Given the description of an element on the screen output the (x, y) to click on. 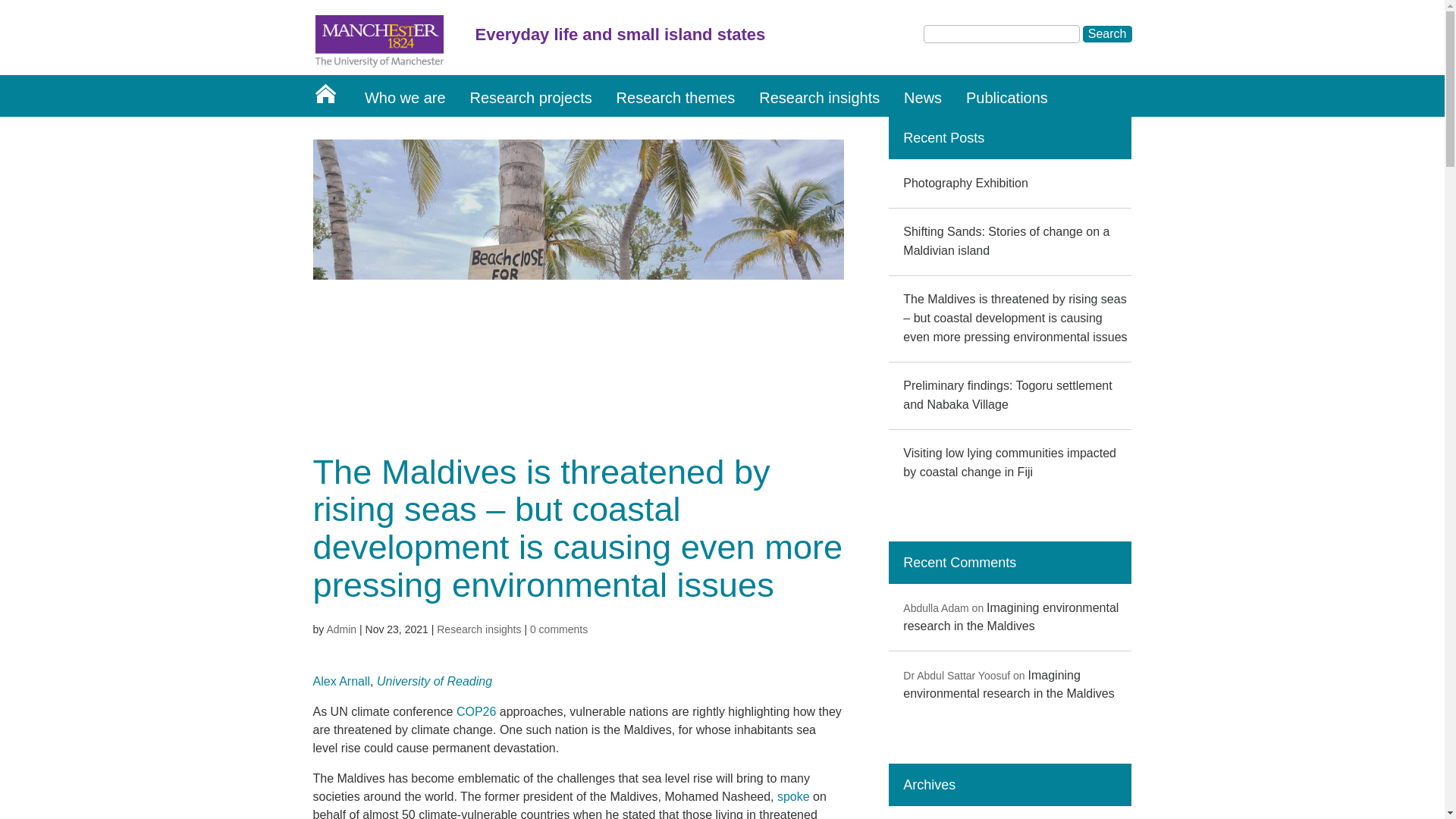
Who we are (405, 96)
Research insights (478, 629)
Research themes (675, 96)
Research projects (531, 96)
University of Reading (434, 680)
News (922, 96)
Admin (341, 629)
Everyday life and small island states (737, 38)
Search (1107, 33)
spoke (793, 796)
